Given the description of an element on the screen output the (x, y) to click on. 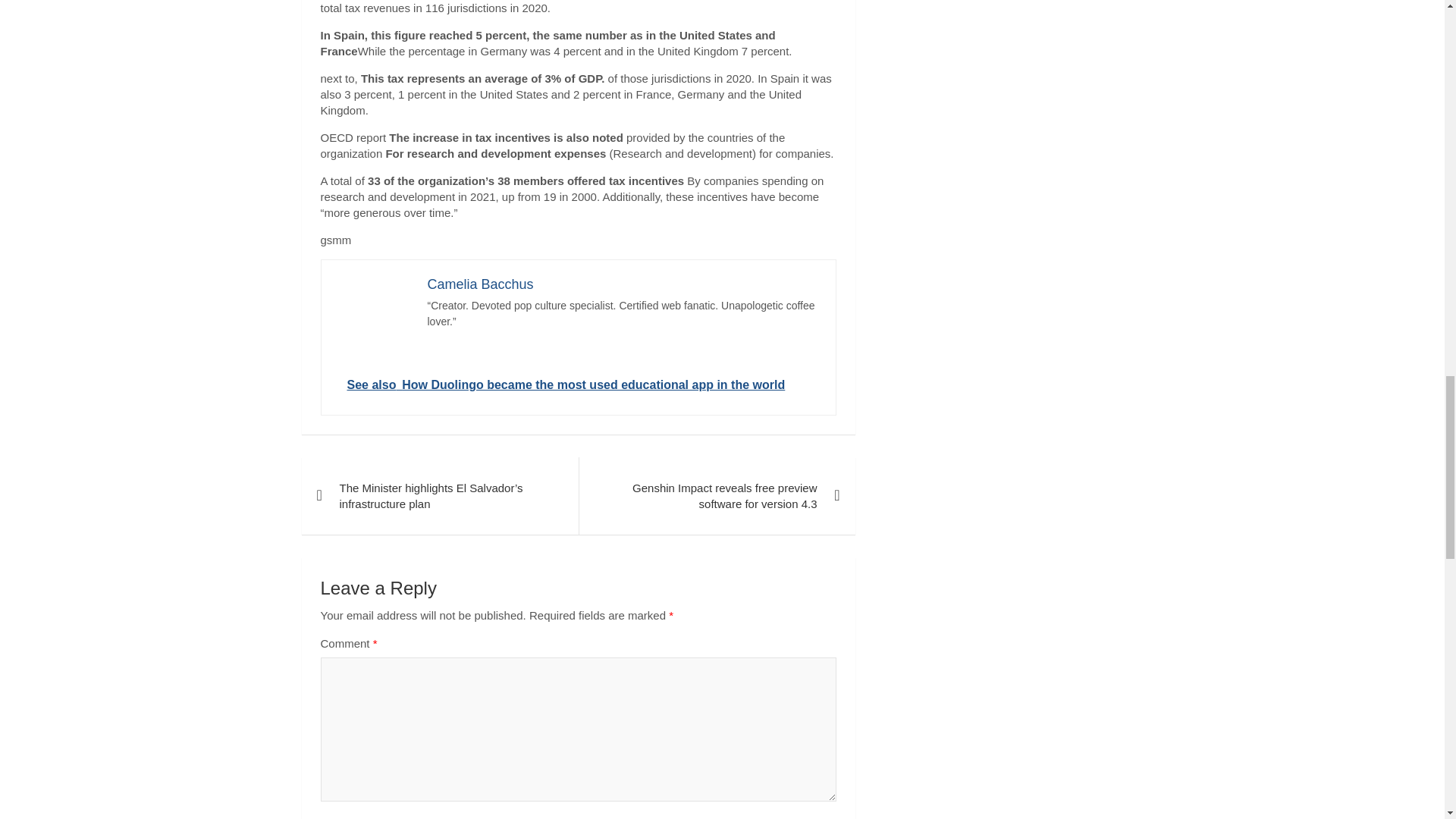
Camelia Bacchus (481, 283)
Genshin Impact reveals free preview software for version 4.3 (716, 495)
